Given the description of an element on the screen output the (x, y) to click on. 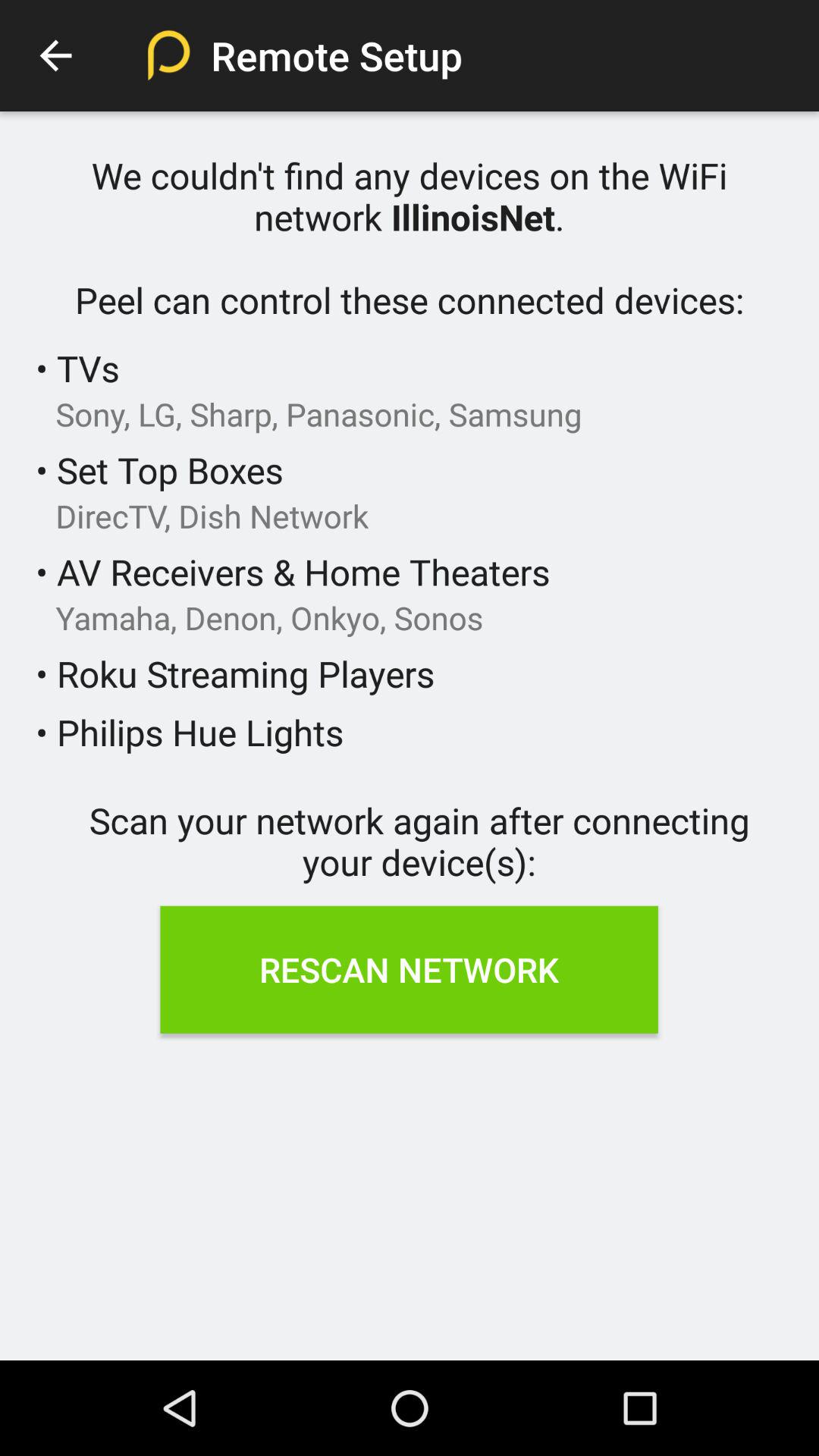
open the item below scan your network icon (409, 969)
